Given the description of an element on the screen output the (x, y) to click on. 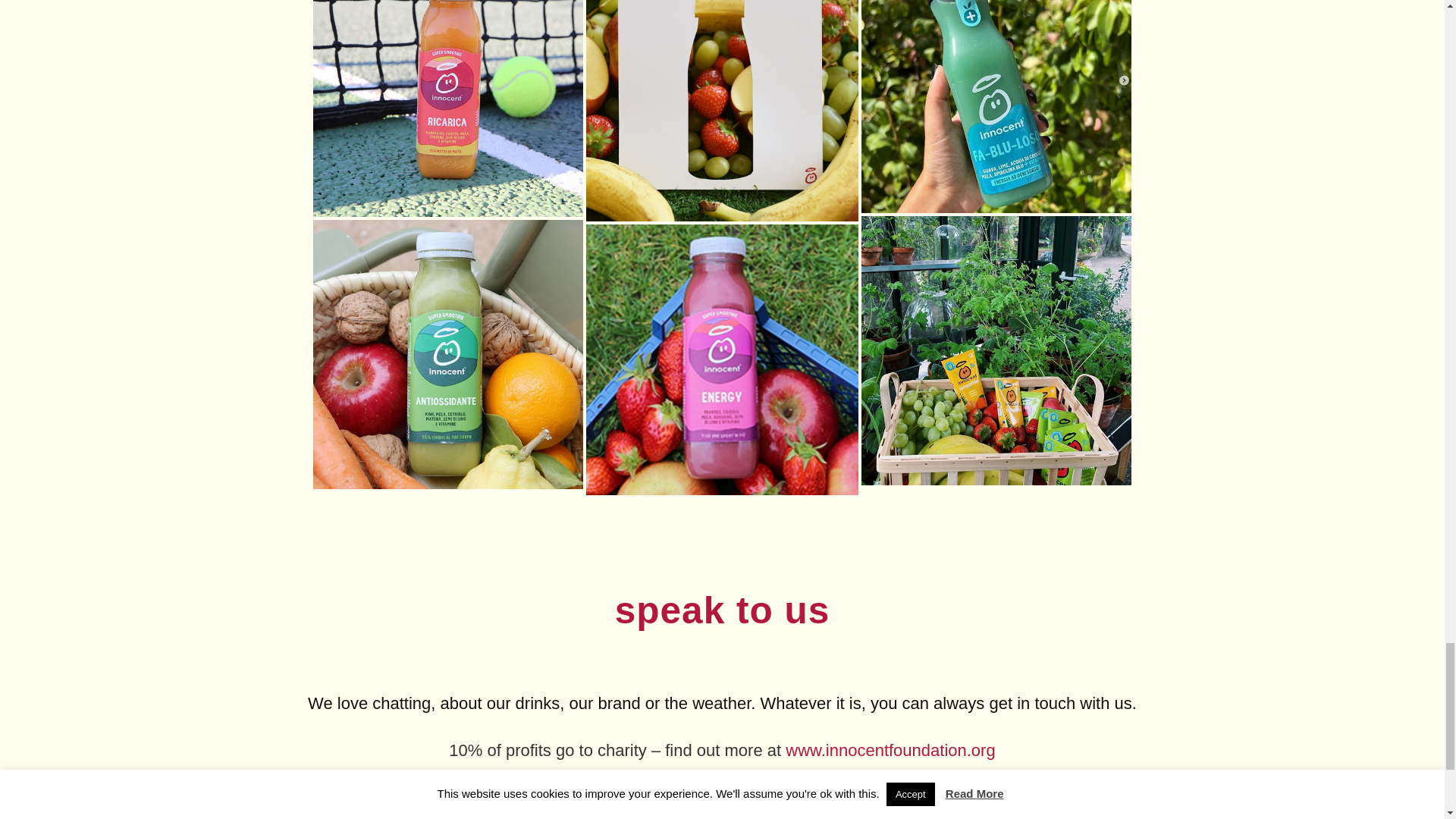
www.innocentfoundation.org (890, 750)
INNOCENT-TENNIS BALL (448, 108)
INNOCENT - FRUIT BOWL (448, 354)
fruit1 (721, 110)
INNOCENT (721, 359)
INNOCENT - GARDEN KIDS (996, 350)
INNOCENT-FAB (996, 106)
